Given the description of an element on the screen output the (x, y) to click on. 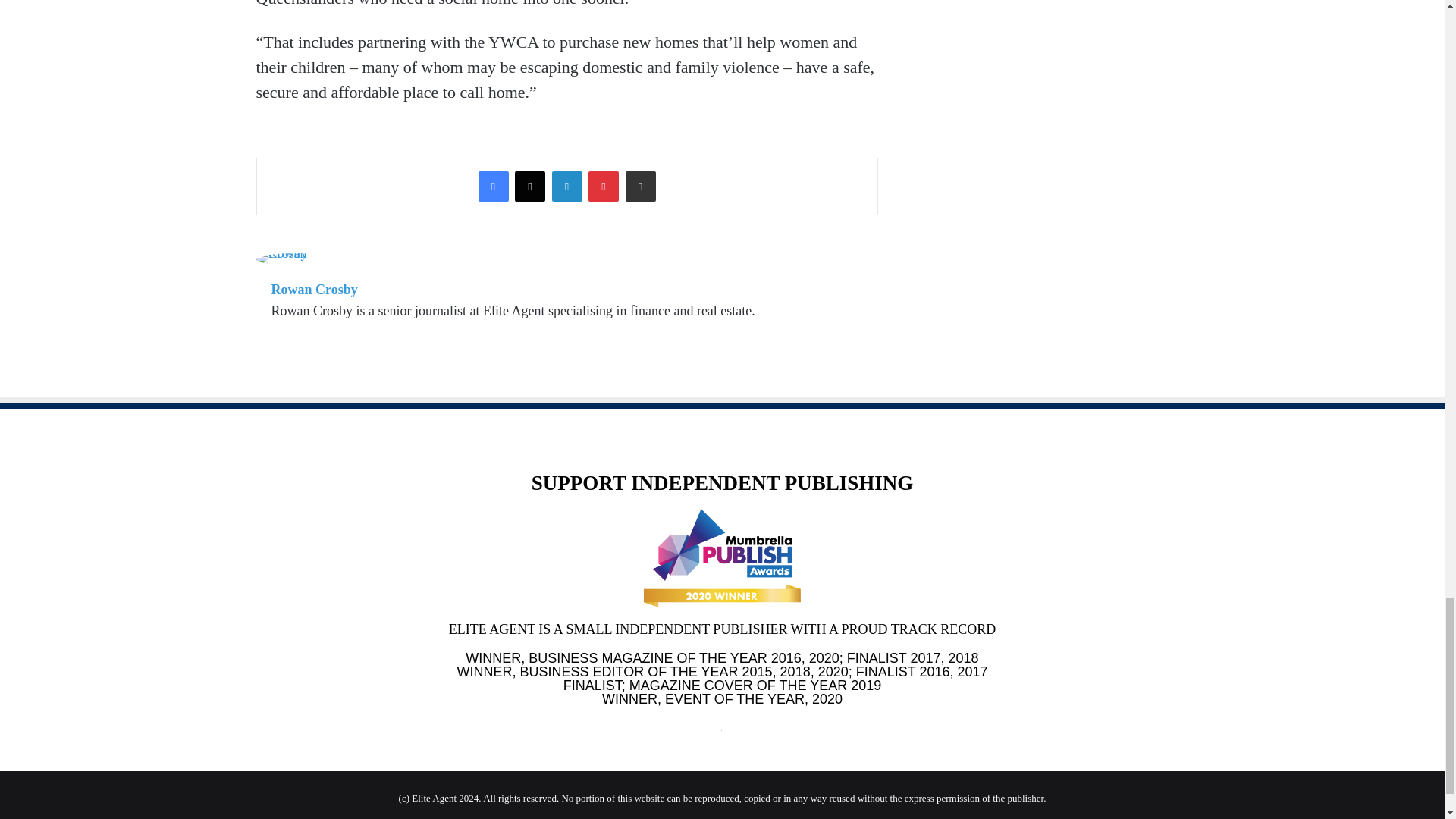
Facebook (492, 186)
